Given the description of an element on the screen output the (x, y) to click on. 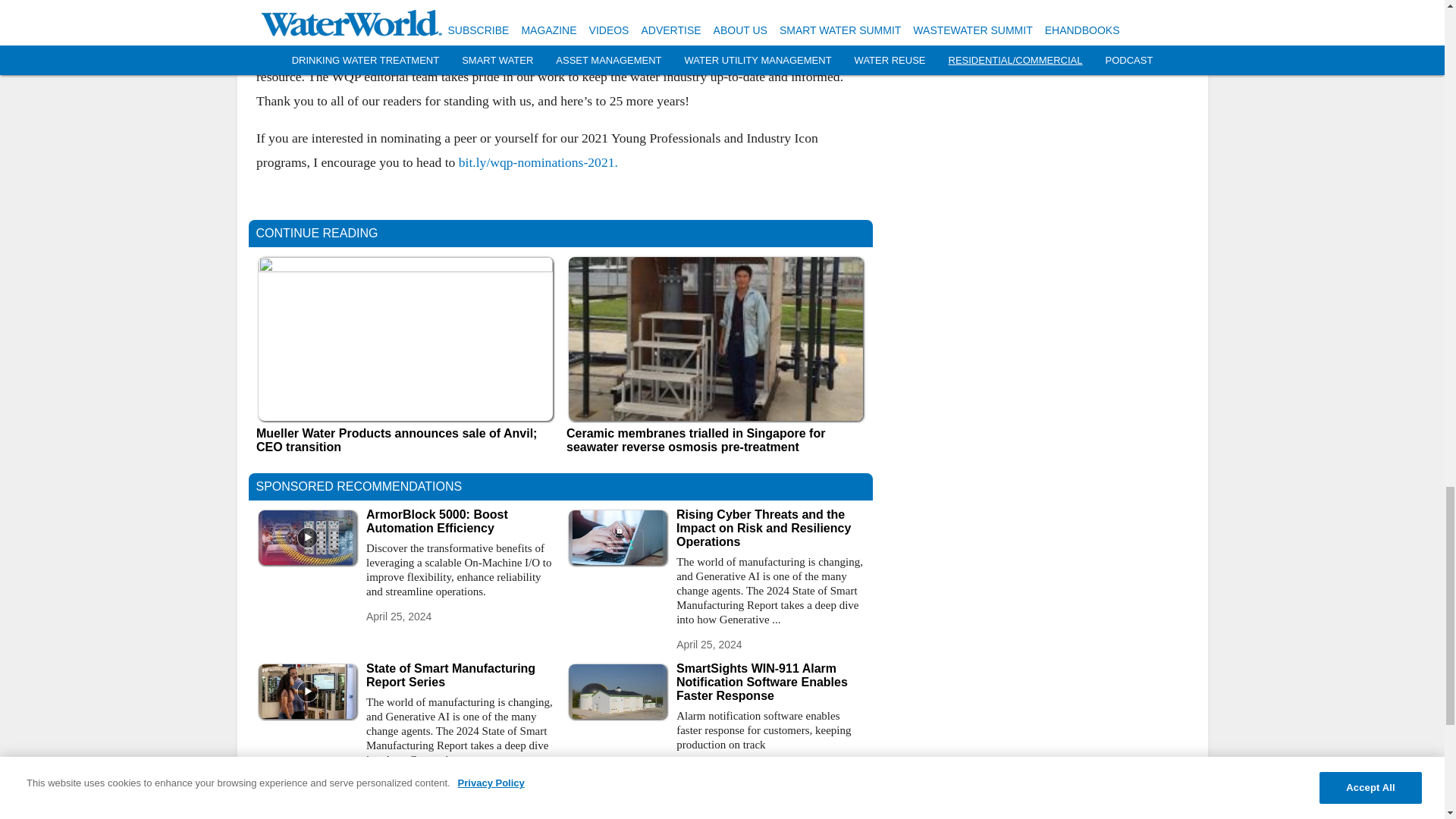
ArmorBlock 5000: Boost Automation Efficiency (459, 521)
State of Smart Manufacturing Report Series (459, 675)
